Given the description of an element on the screen output the (x, y) to click on. 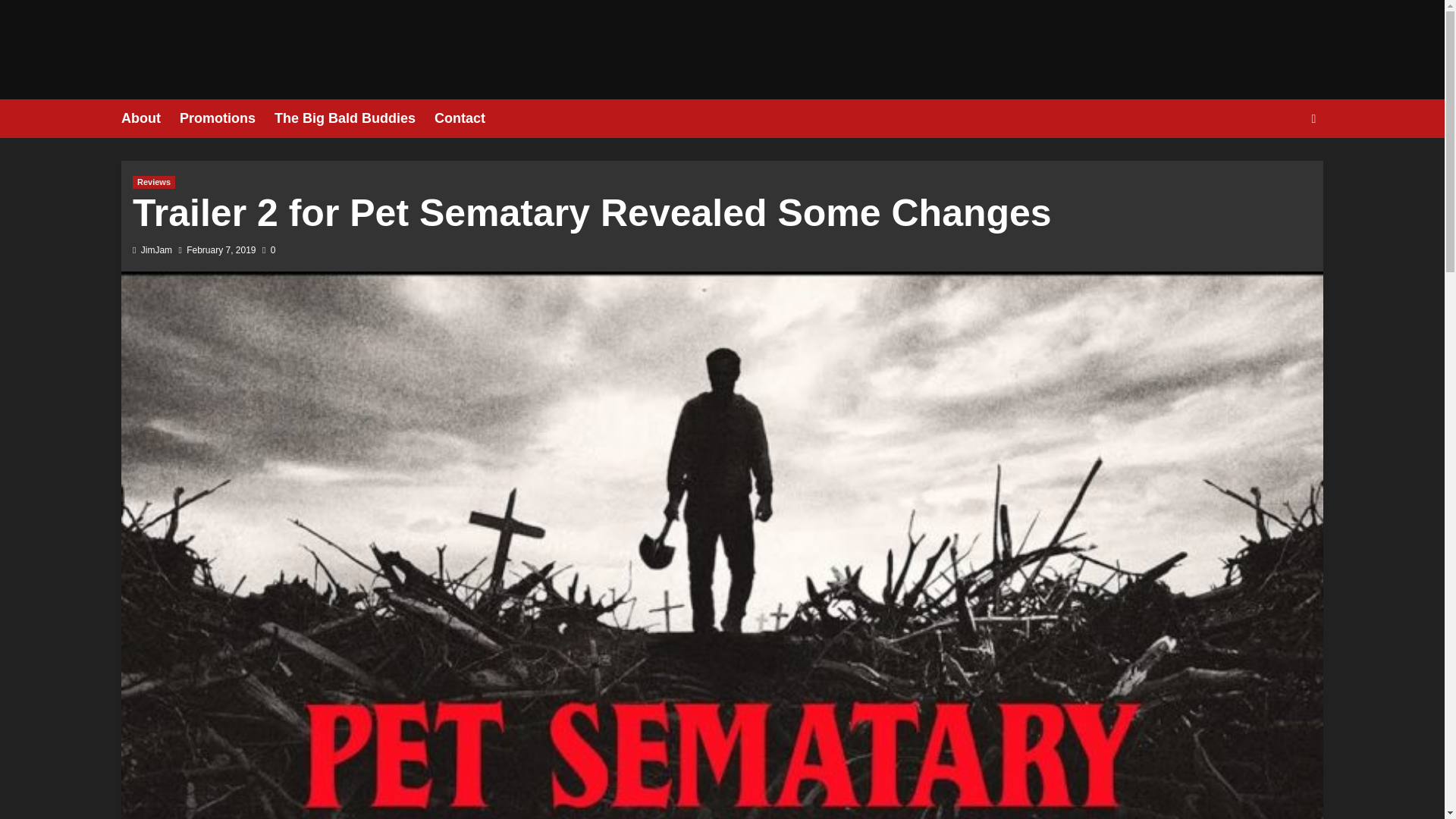
Search (1278, 165)
Contact (468, 118)
Promotions (227, 118)
About (149, 118)
The Big Bald Buddies (354, 118)
Reviews (153, 182)
JimJam (156, 249)
February 7, 2019 (221, 249)
0 (268, 249)
